Given the description of an element on the screen output the (x, y) to click on. 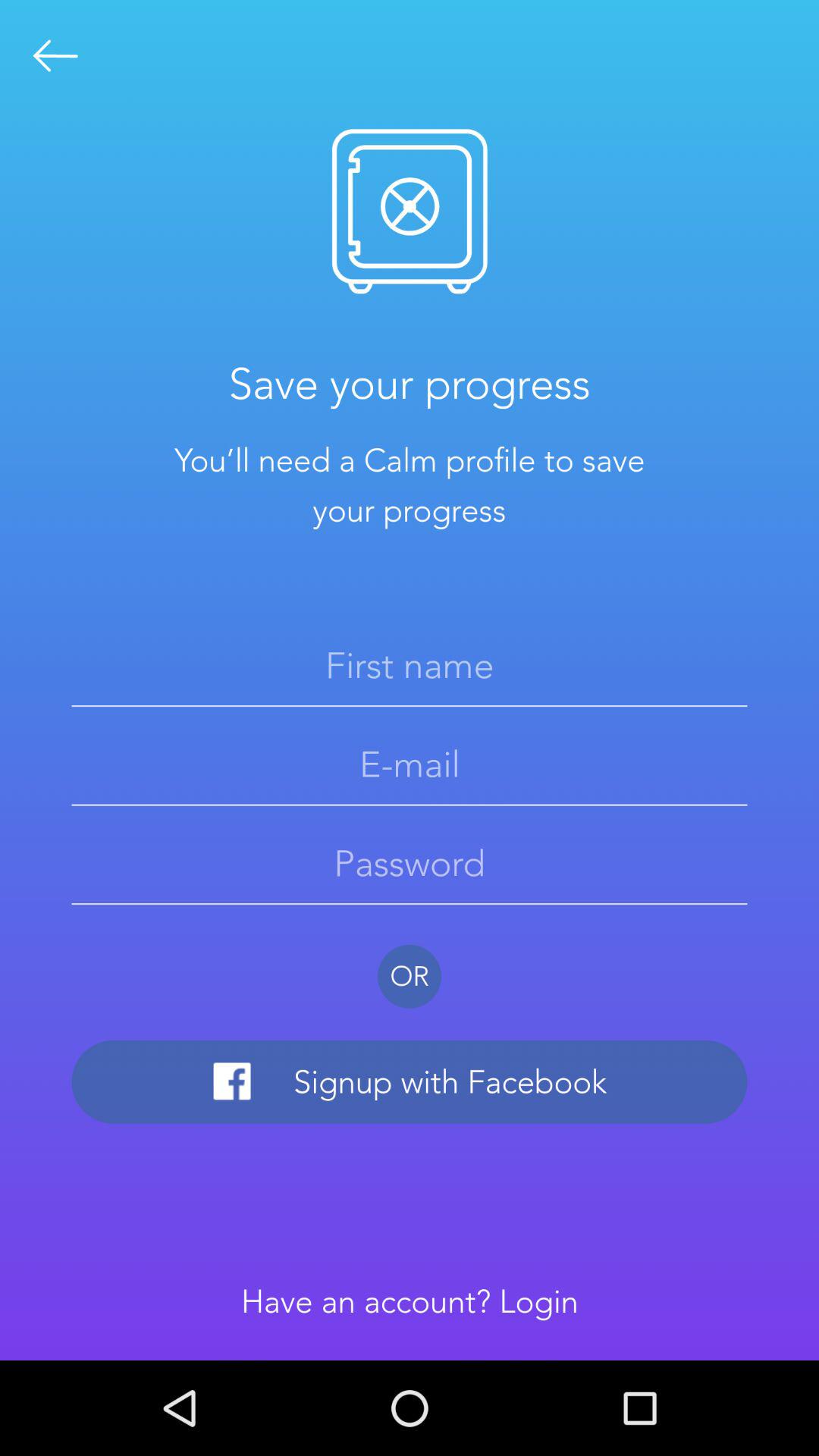
press item at the top left corner (55, 55)
